Given the description of an element on the screen output the (x, y) to click on. 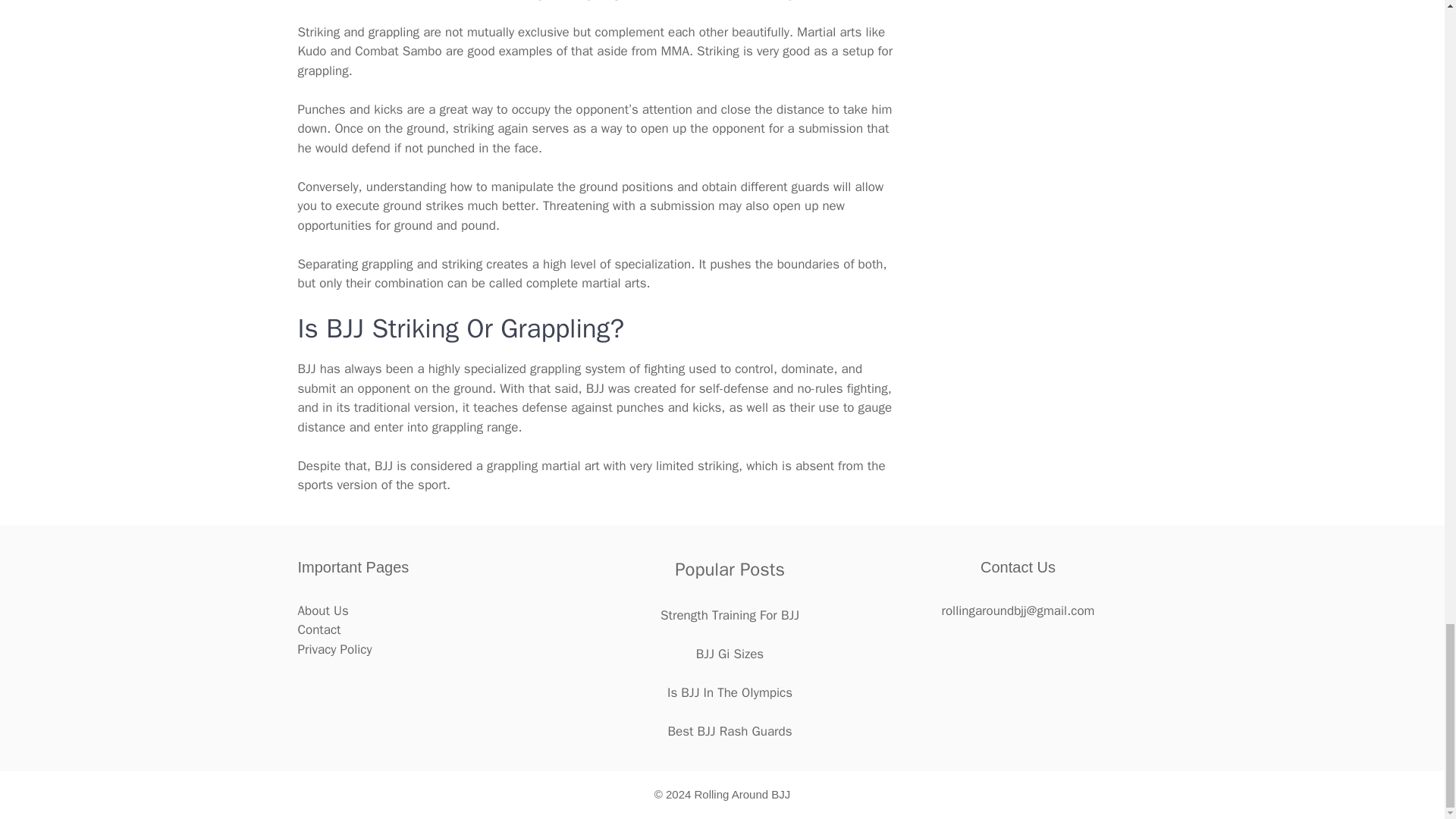
Is BJJ In The OIympics (729, 692)
About Us (322, 610)
Strength Training For BJJ (730, 615)
Privacy Policy (334, 649)
ground fighting (578, 0)
Contact (318, 629)
BJJ Gi Sizes (728, 653)
Best BJJ Rash Guards (729, 731)
